Given the description of an element on the screen output the (x, y) to click on. 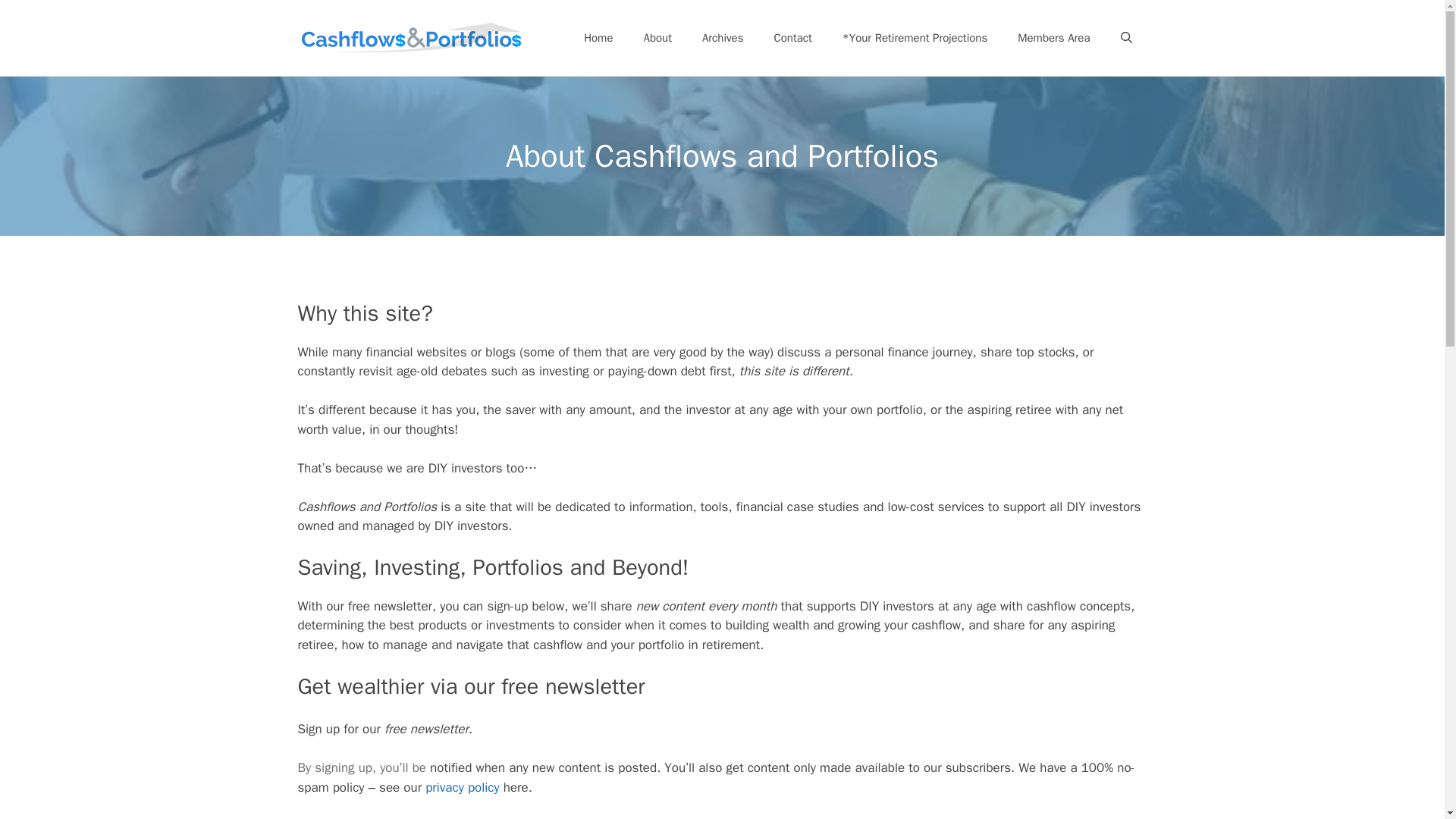
About (656, 37)
Home (598, 37)
Members Area (1054, 37)
privacy policy (462, 787)
Archives (722, 37)
Contact (792, 37)
